Given the description of an element on the screen output the (x, y) to click on. 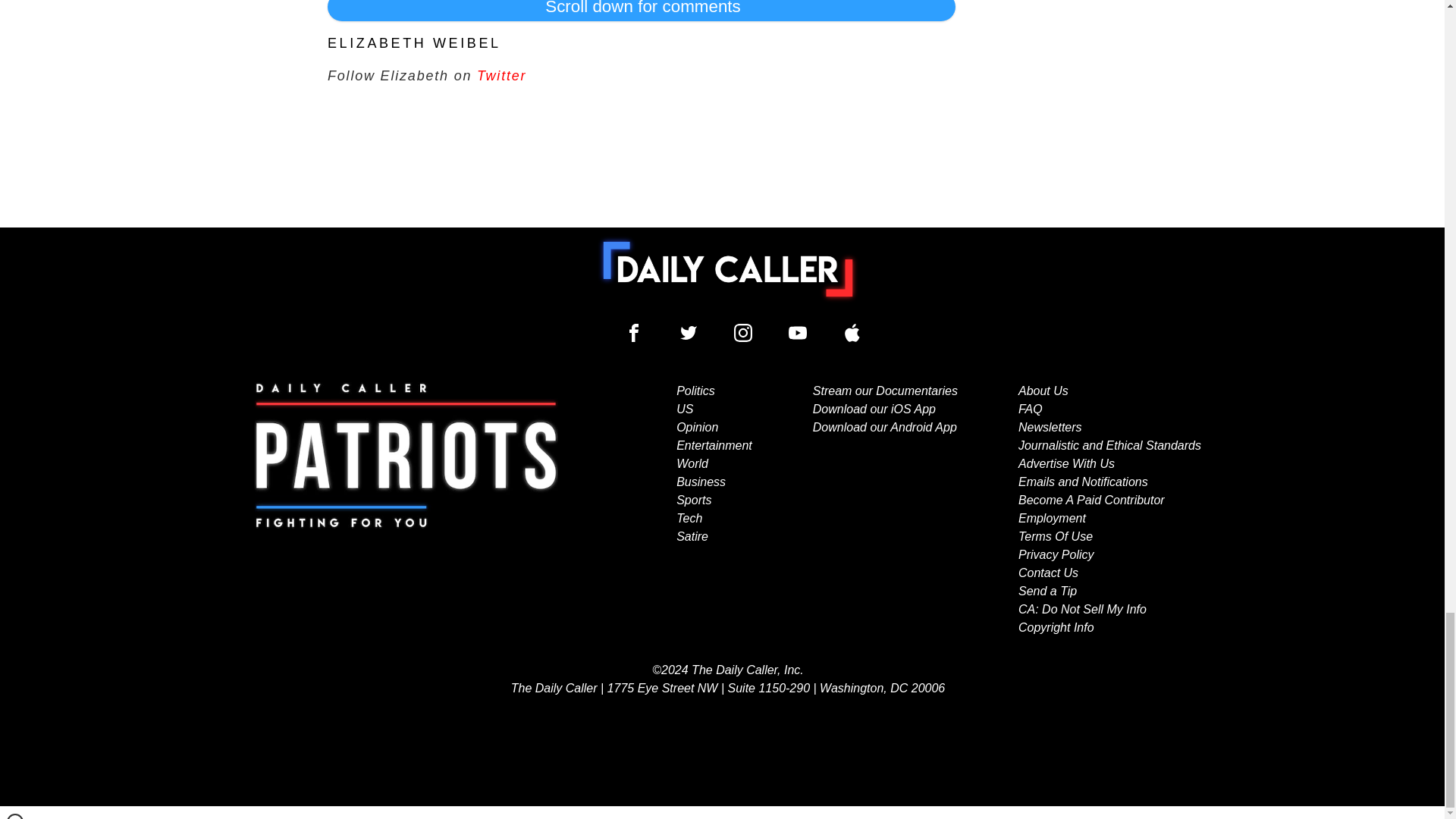
Daily Caller Twitter (688, 332)
Daily Caller YouTube (797, 332)
Daily Caller YouTube (852, 332)
Subscribe to The Daily Caller (405, 509)
Daily Caller Instagram (742, 332)
Scroll down for comments (641, 10)
Daily Caller Facebook (633, 332)
To home page (727, 268)
